Given the description of an element on the screen output the (x, y) to click on. 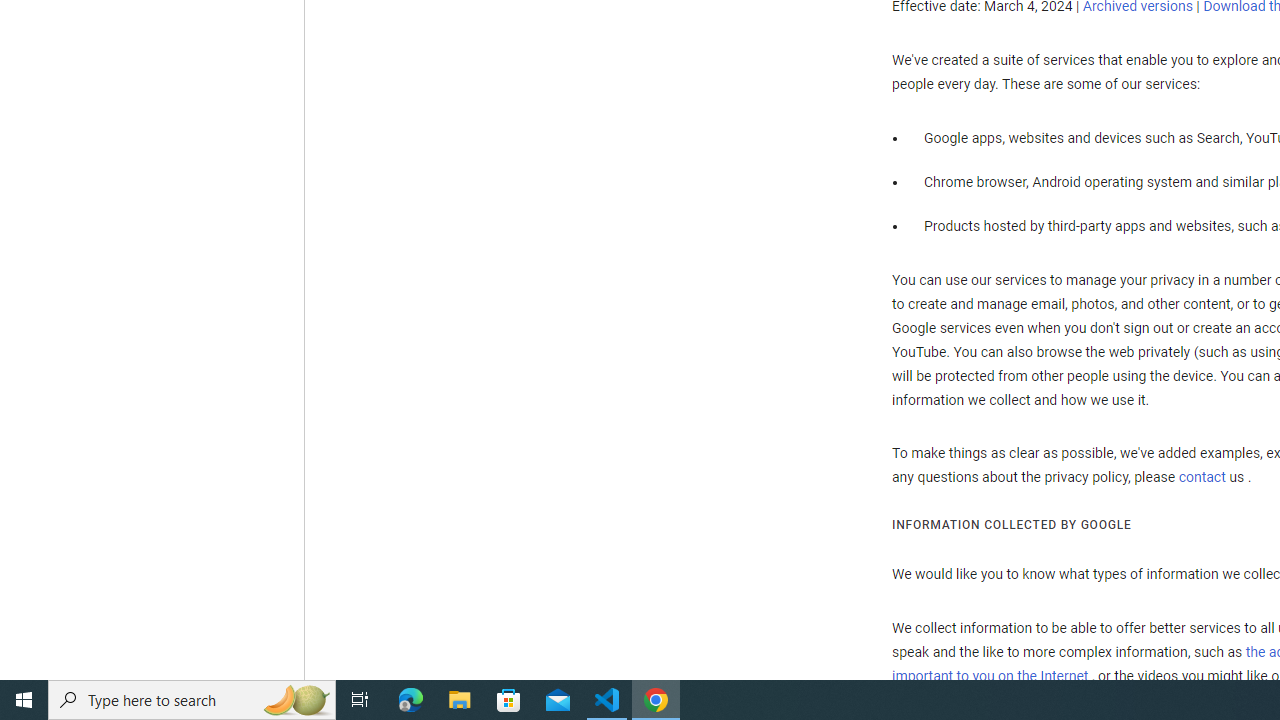
contact (1201, 477)
